Given the description of an element on the screen output the (x, y) to click on. 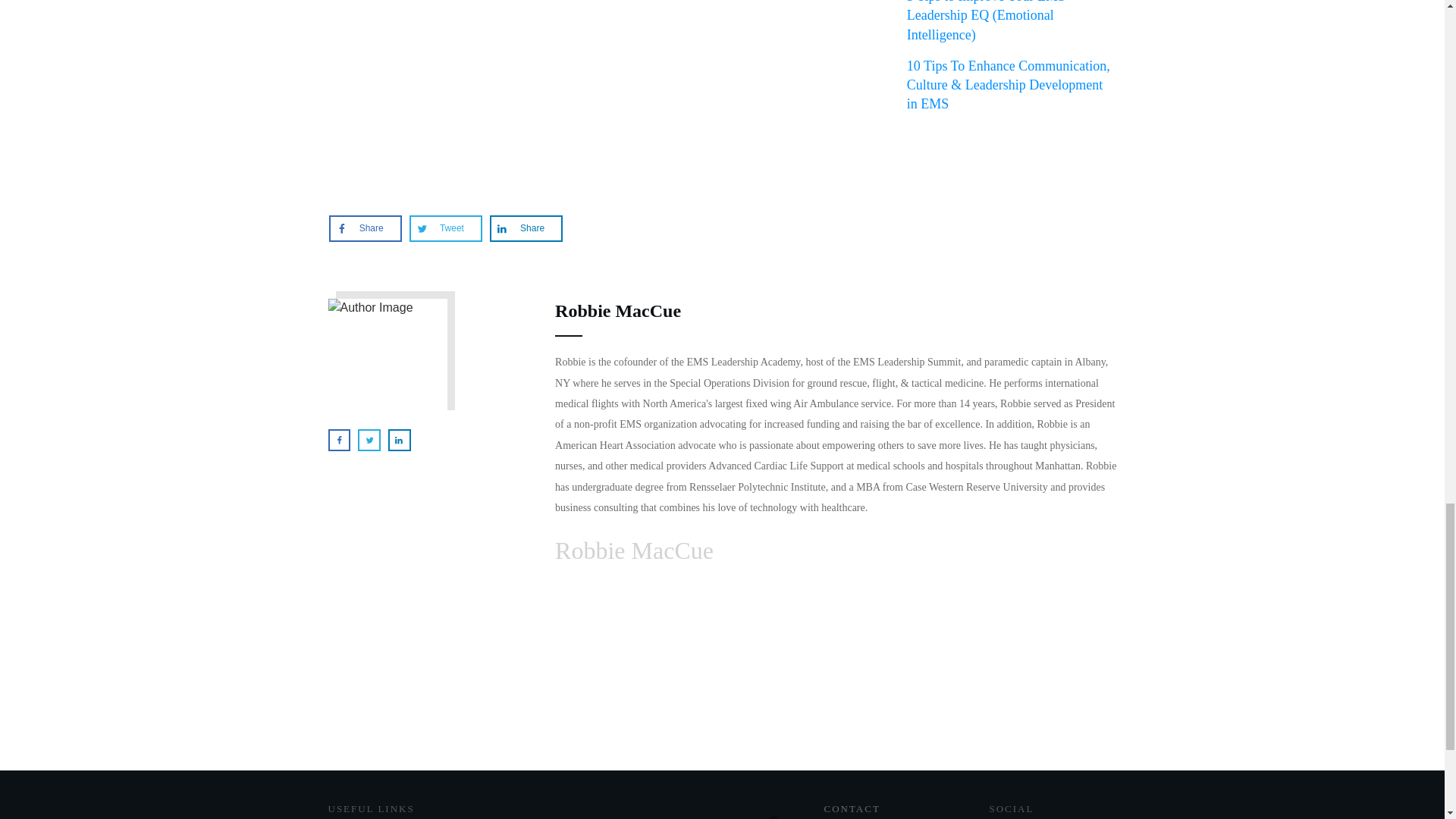
Share (365, 228)
Tweet (445, 228)
